Given the description of an element on the screen output the (x, y) to click on. 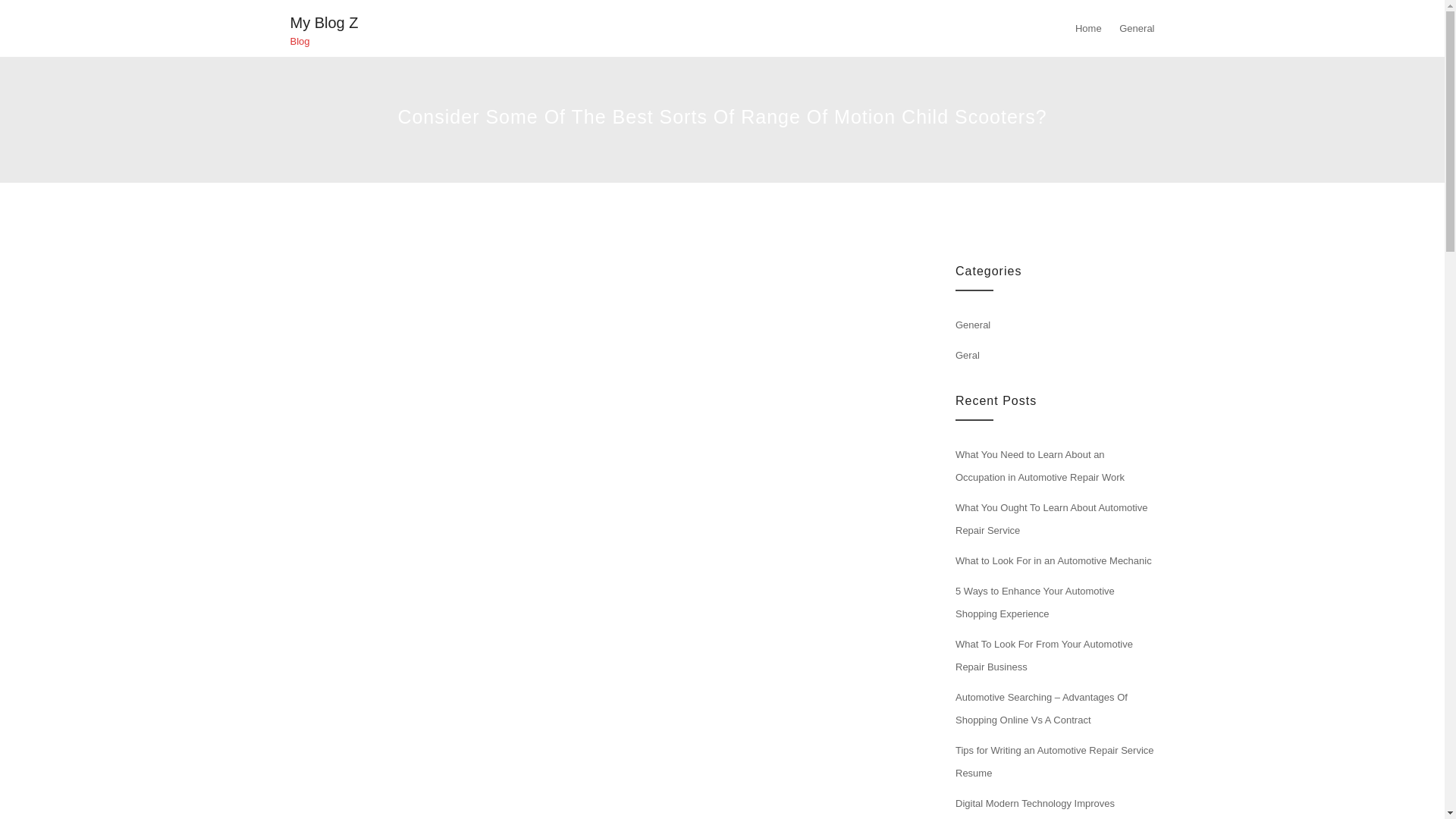
What To Look For From Your Automotive Repair Business (1043, 655)
What You Ought To Learn About Automotive Repair Service (1051, 519)
What to Look For in an Automotive Mechanic (1053, 560)
Digital Modern Technology Improves Automotive Shopping (1035, 808)
Tips for Writing an Automotive Repair Service Resume (1054, 761)
General (972, 324)
My Blog Z (323, 22)
Geral (967, 355)
